Given the description of an element on the screen output the (x, y) to click on. 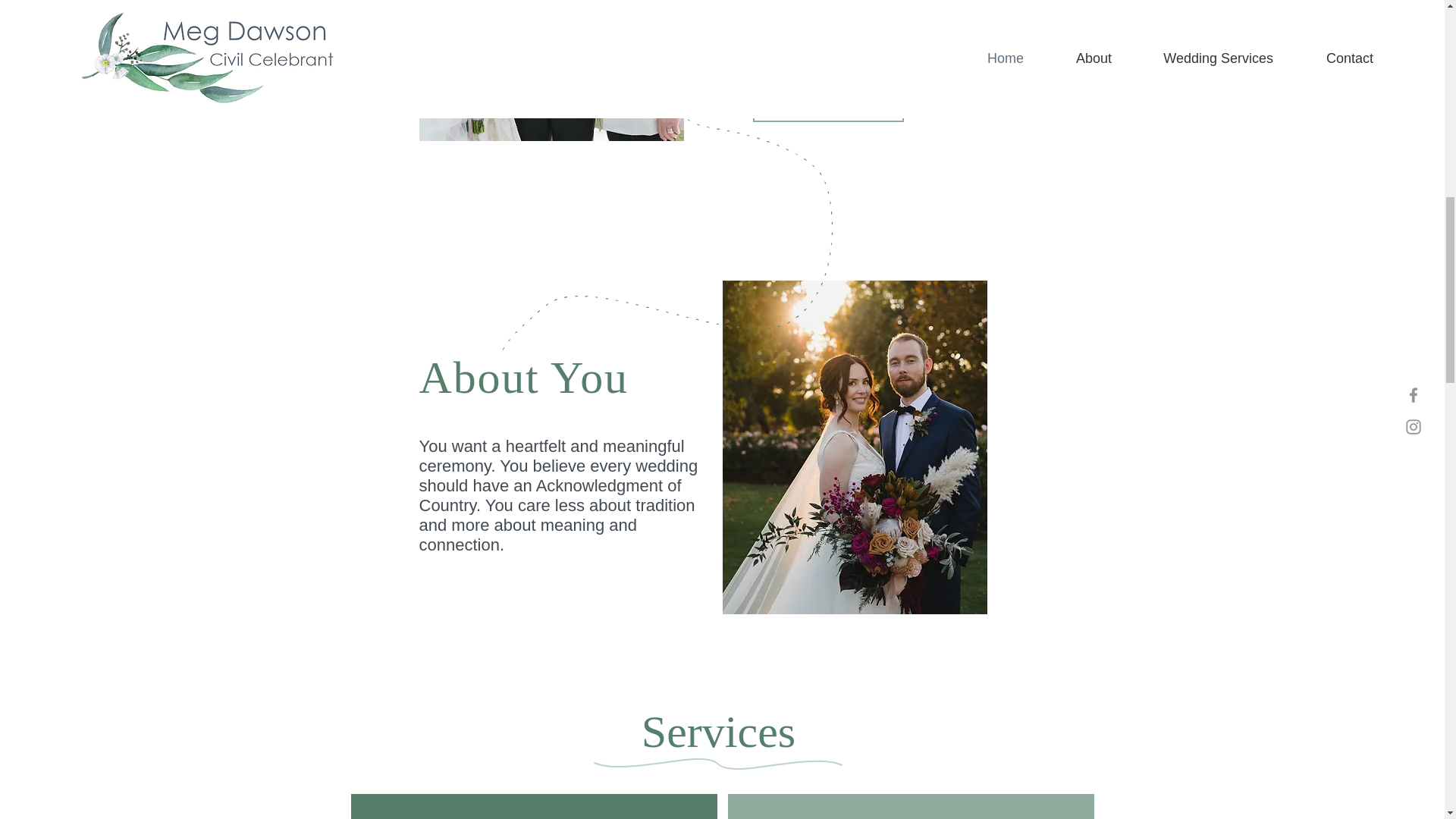
More about me (827, 101)
